Given the description of an element on the screen output the (x, y) to click on. 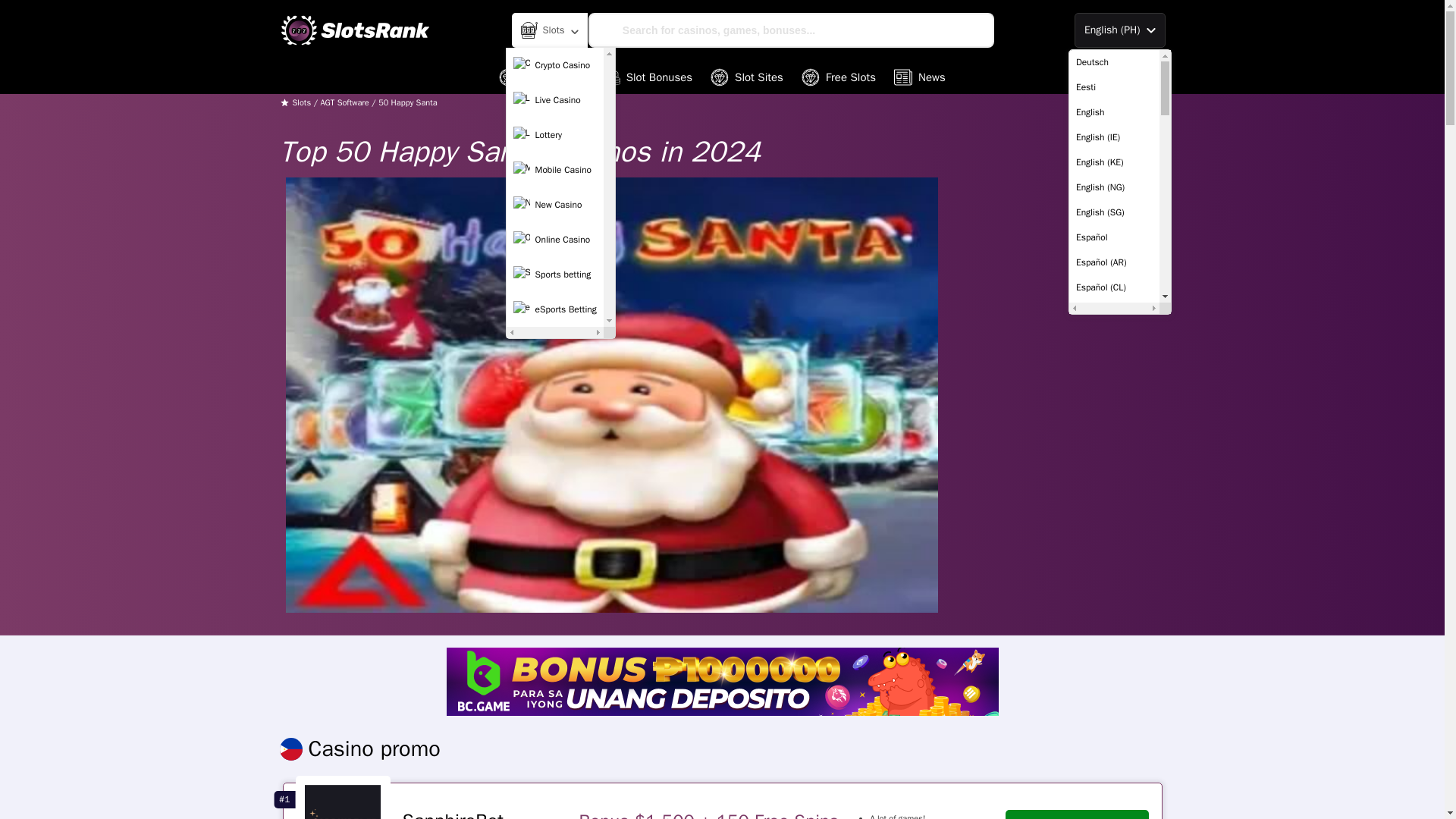
Deutsch (1113, 62)
Crypto Casino (554, 64)
Italiano (1113, 437)
Polski (1113, 637)
Nederlands (1113, 562)
Online Casino (554, 239)
Magyar (1113, 512)
Sports betting (554, 274)
Lottery (554, 134)
English (1113, 112)
Eesti (1113, 87)
Svenska (1113, 763)
Mobile Casino (554, 169)
eSports Betting (554, 308)
Indonesia (1113, 412)
